Given the description of an element on the screen output the (x, y) to click on. 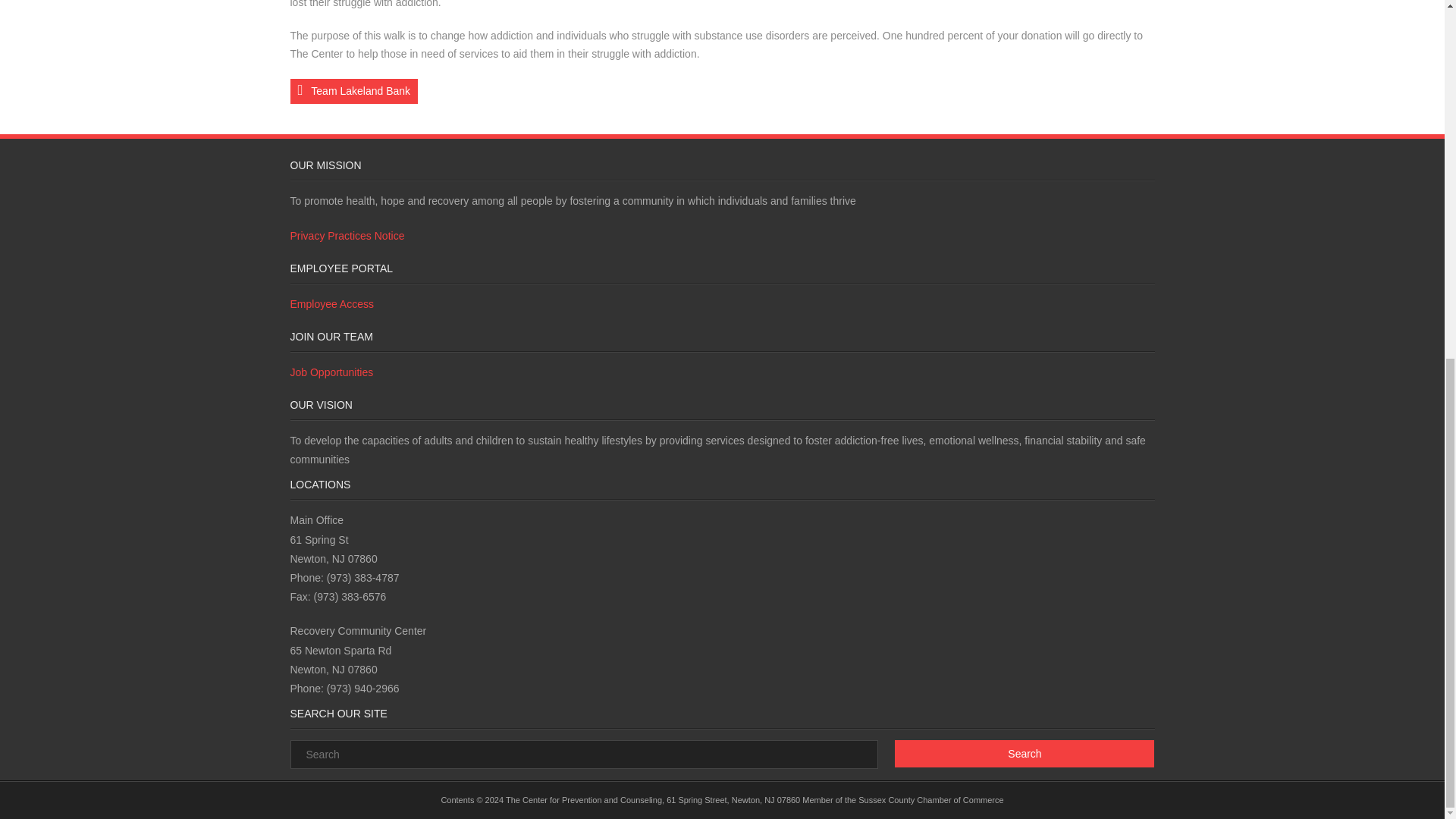
Search (1024, 753)
Search (1024, 753)
